Given the description of an element on the screen output the (x, y) to click on. 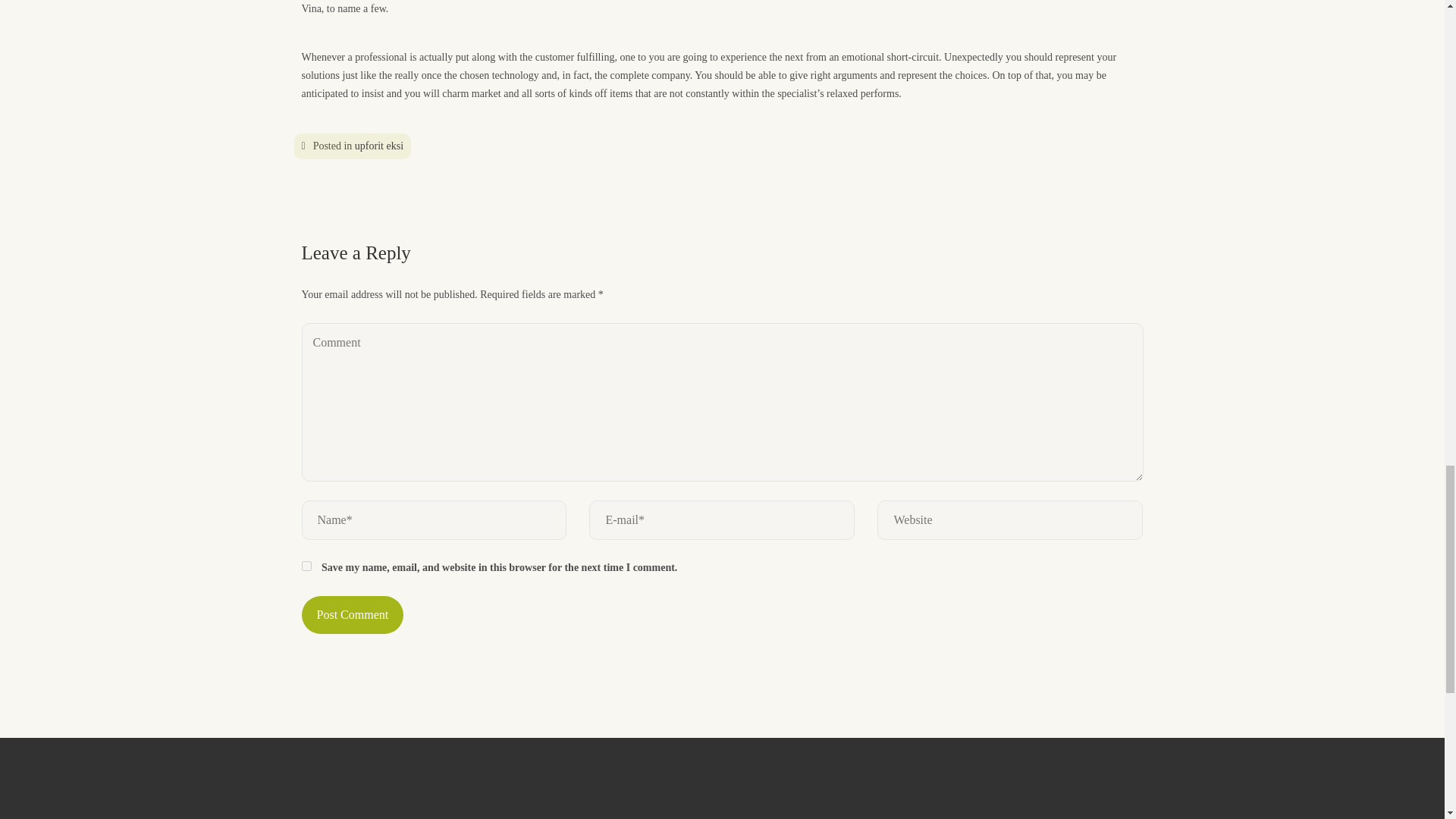
Post Comment (352, 614)
Post Comment (352, 614)
upforit eksi (379, 144)
yes (306, 565)
